Given the description of an element on the screen output the (x, y) to click on. 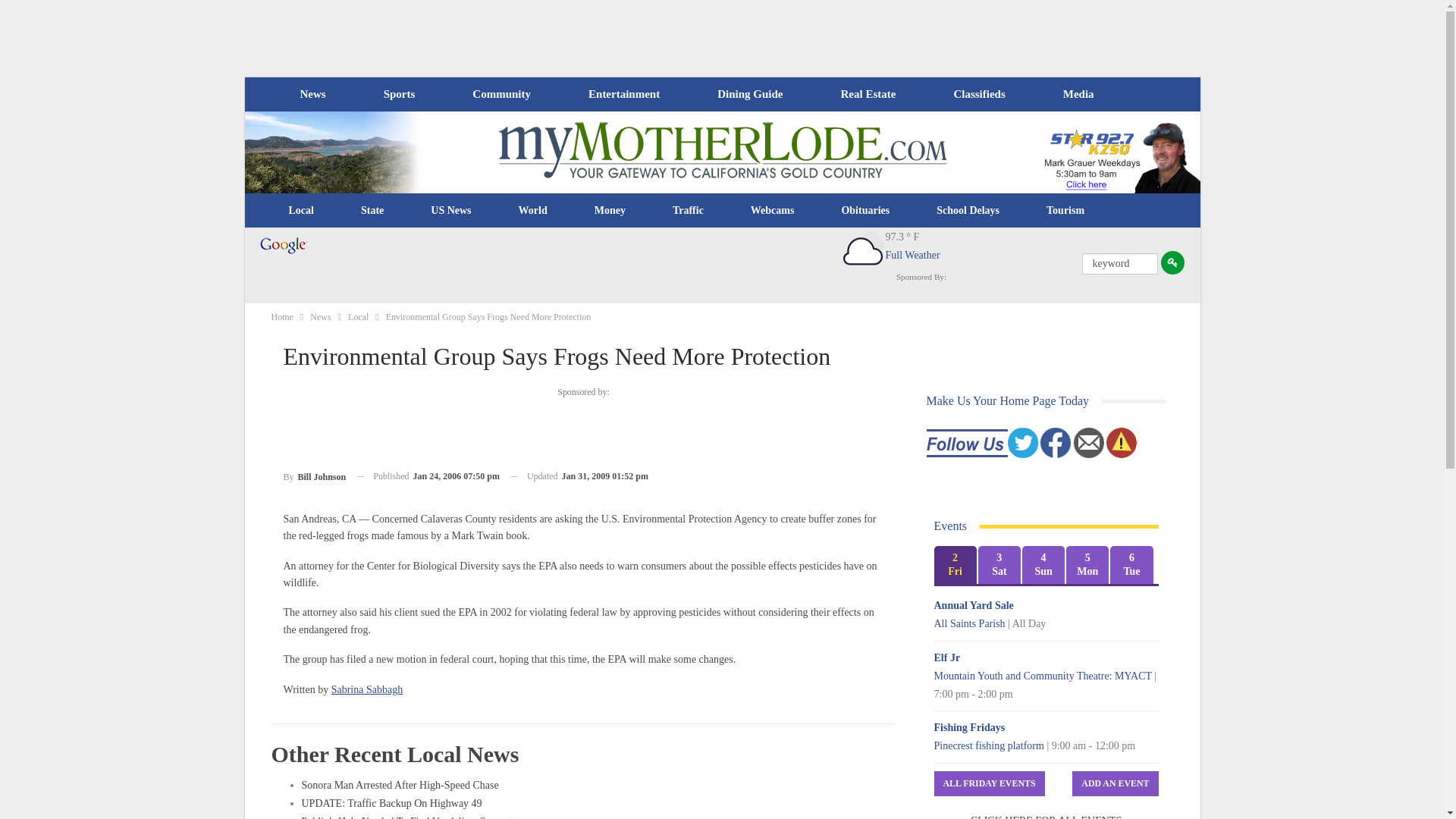
Real Estate (868, 93)
School Delays (967, 210)
keyword (1119, 263)
US News (451, 210)
Submit (1172, 262)
All Friday Events (989, 783)
State (372, 210)
Traffic (687, 210)
Add An Event (1114, 783)
Sports (399, 93)
Webcams (772, 210)
